Given the description of an element on the screen output the (x, y) to click on. 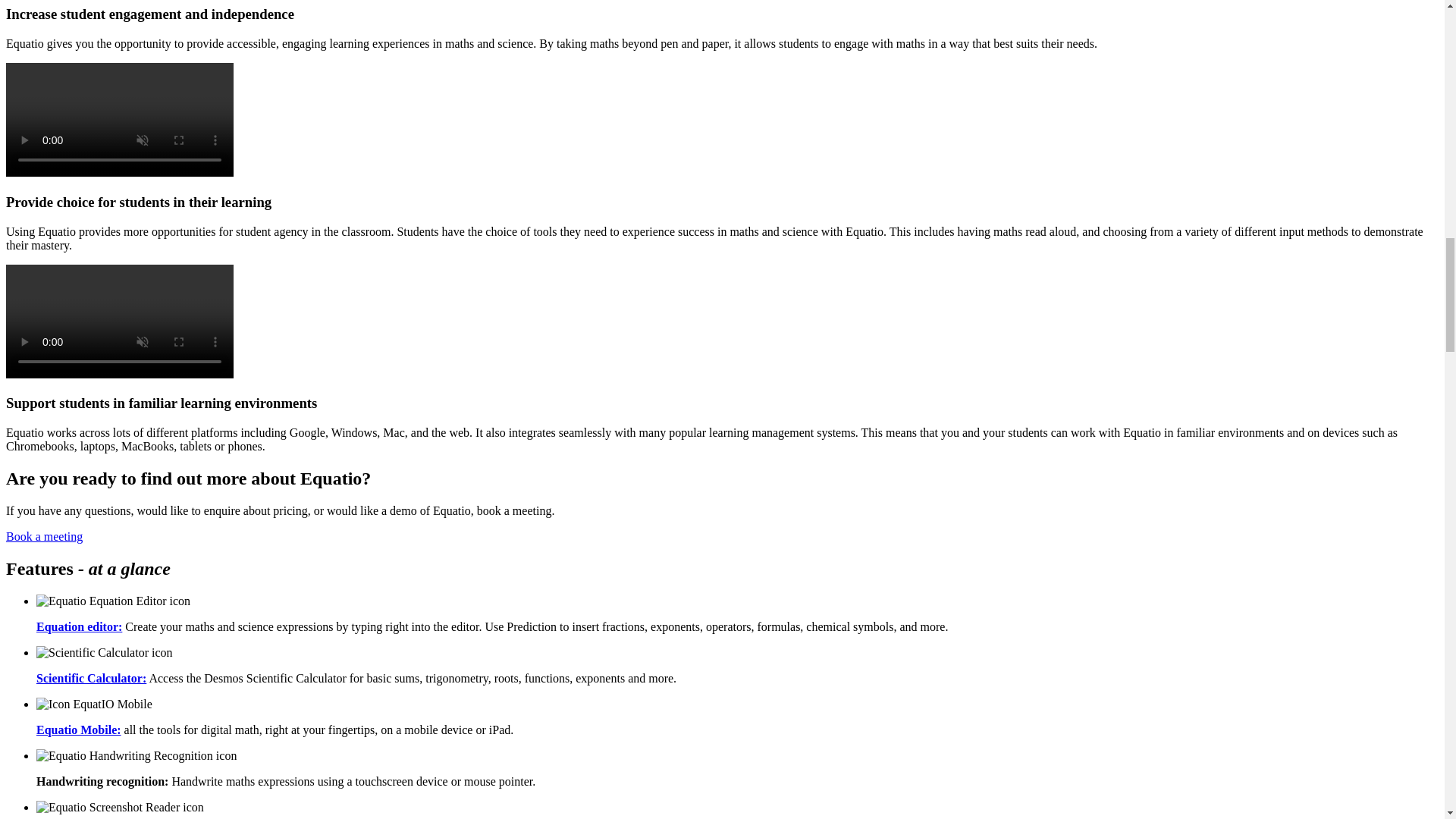
Equation editor: (79, 626)
Book a meeting (43, 535)
Scientific Calculator: (91, 677)
Equatio Mobile: (78, 729)
